Given the description of an element on the screen output the (x, y) to click on. 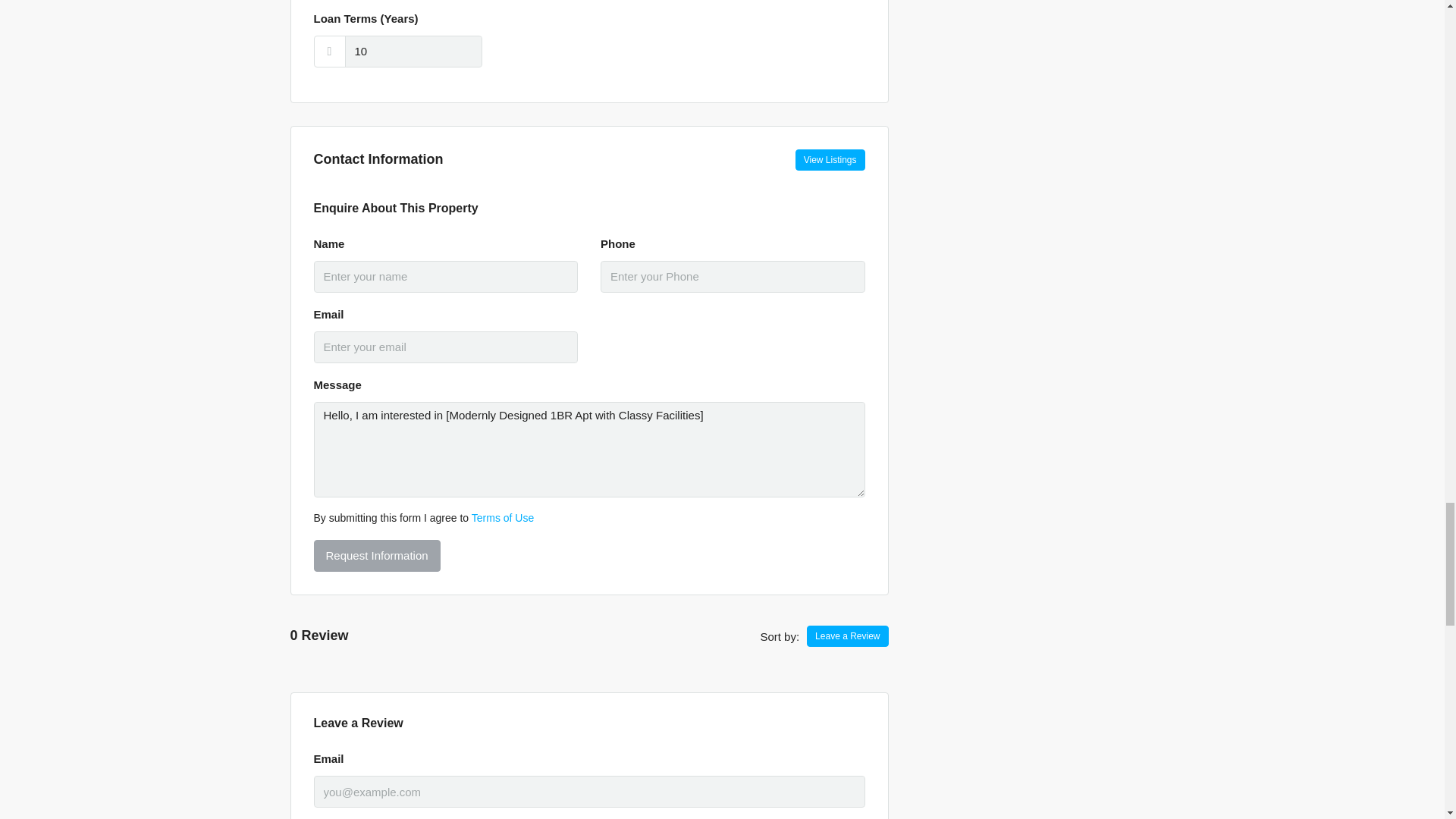
10 (412, 51)
